Given the description of an element on the screen output the (x, y) to click on. 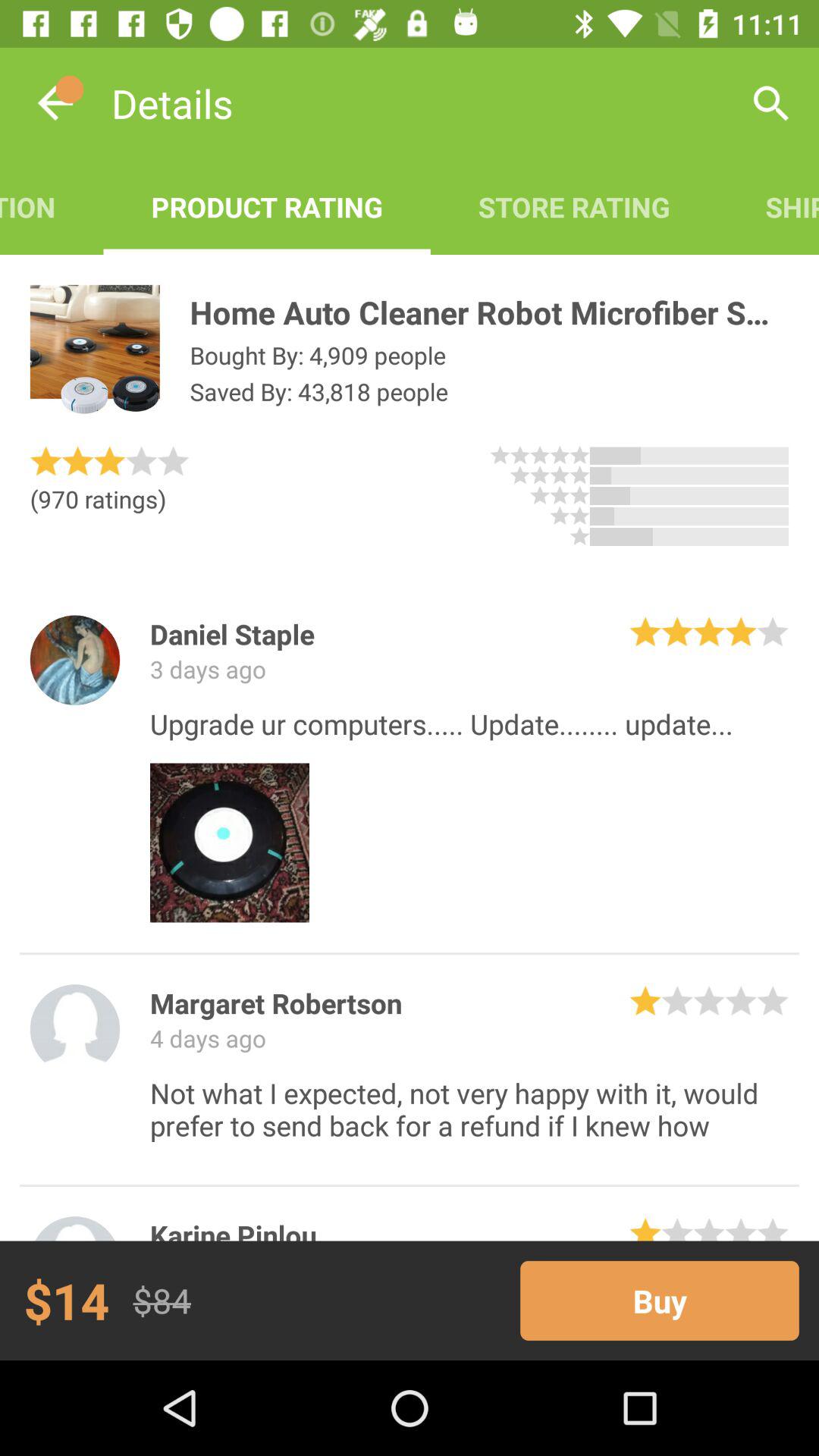
press the shipping info icon (768, 206)
